Given the description of an element on the screen output the (x, y) to click on. 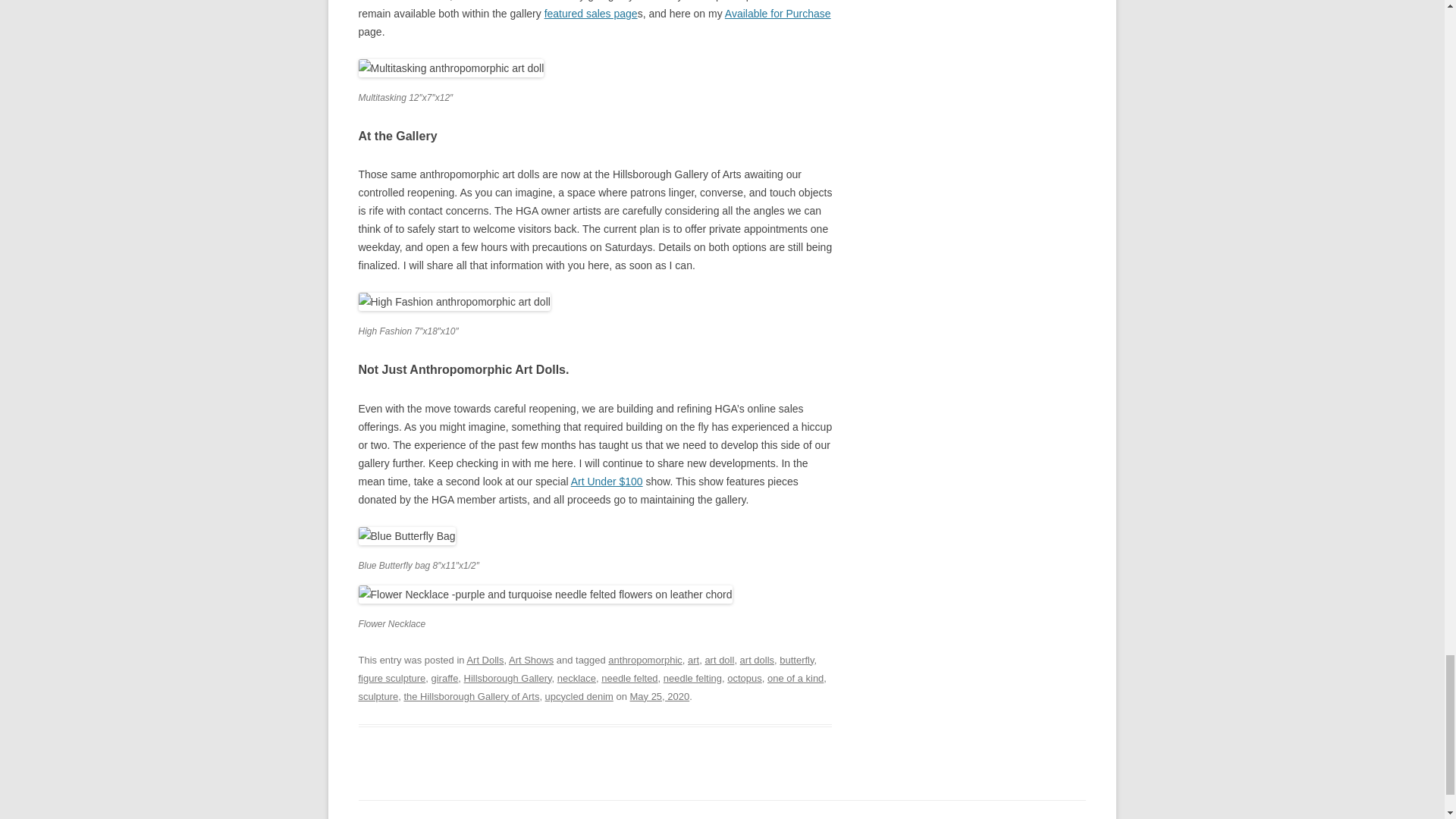
12:48 pm (658, 696)
